Given the description of an element on the screen output the (x, y) to click on. 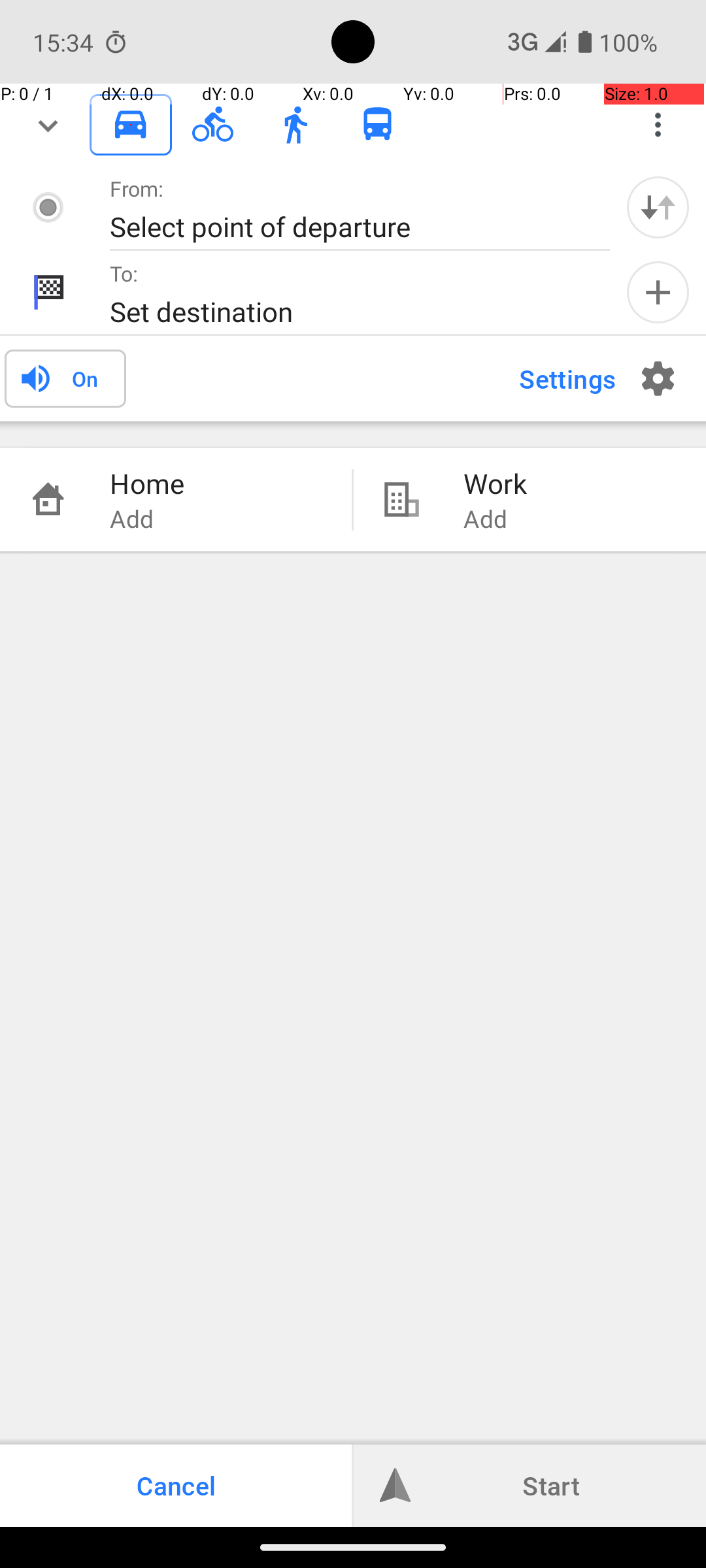
fold/unfold Element type: android.widget.ImageView (48, 124)
Choose app modes Element type: android.widget.ImageView (657, 124)
Driving Element type: android.widget.FrameLayout (130, 124)
Cycling Element type: android.widget.FrameLayout (212, 124)
Walking Element type: android.widget.FrameLayout (295, 124)
Public transport Element type: android.widget.FrameLayout (377, 124)
From: Element type: android.widget.TextView (136, 188)
Select point of departure Element type: android.widget.TextView (345, 226)
Swap Element type: android.widget.FrameLayout (657, 207)
To: Element type: android.widget.TextView (123, 273)
Set destination Element type: android.widget.TextView (345, 310)
Add Element type: android.widget.FrameLayout (657, 292)
Driving checked Element type: android.widget.ImageView (130, 124)
Cycling unchecked Element type: android.widget.ImageView (212, 124)
Walking unchecked Element type: android.widget.ImageView (294, 124)
Public transport unchecked Element type: android.widget.ImageView (377, 124)
On Element type: android.widget.TextView (84, 378)
